Given the description of an element on the screen output the (x, y) to click on. 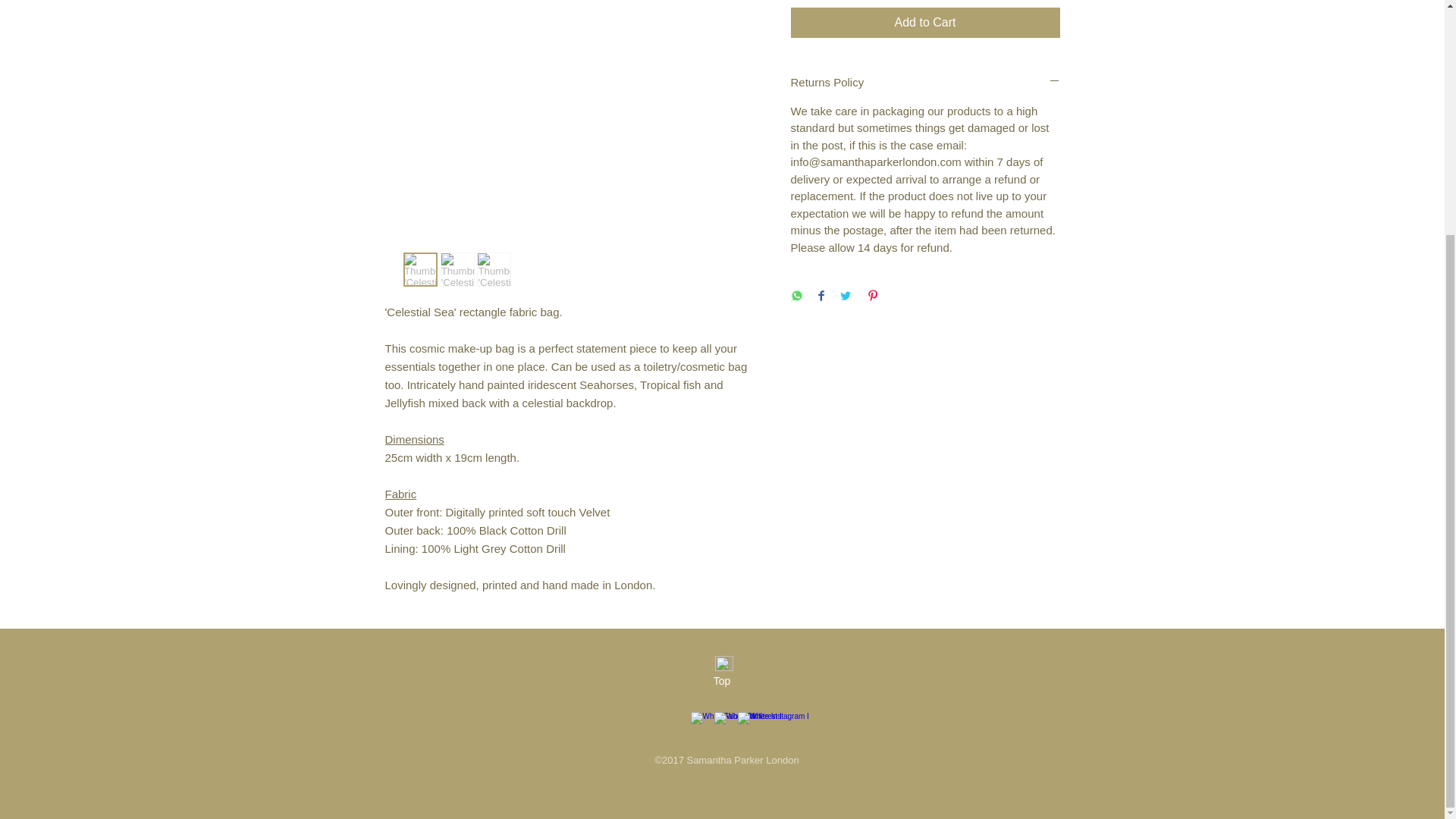
Top (721, 681)
Add to Cart (924, 22)
Returns Policy (924, 82)
